Given the description of an element on the screen output the (x, y) to click on. 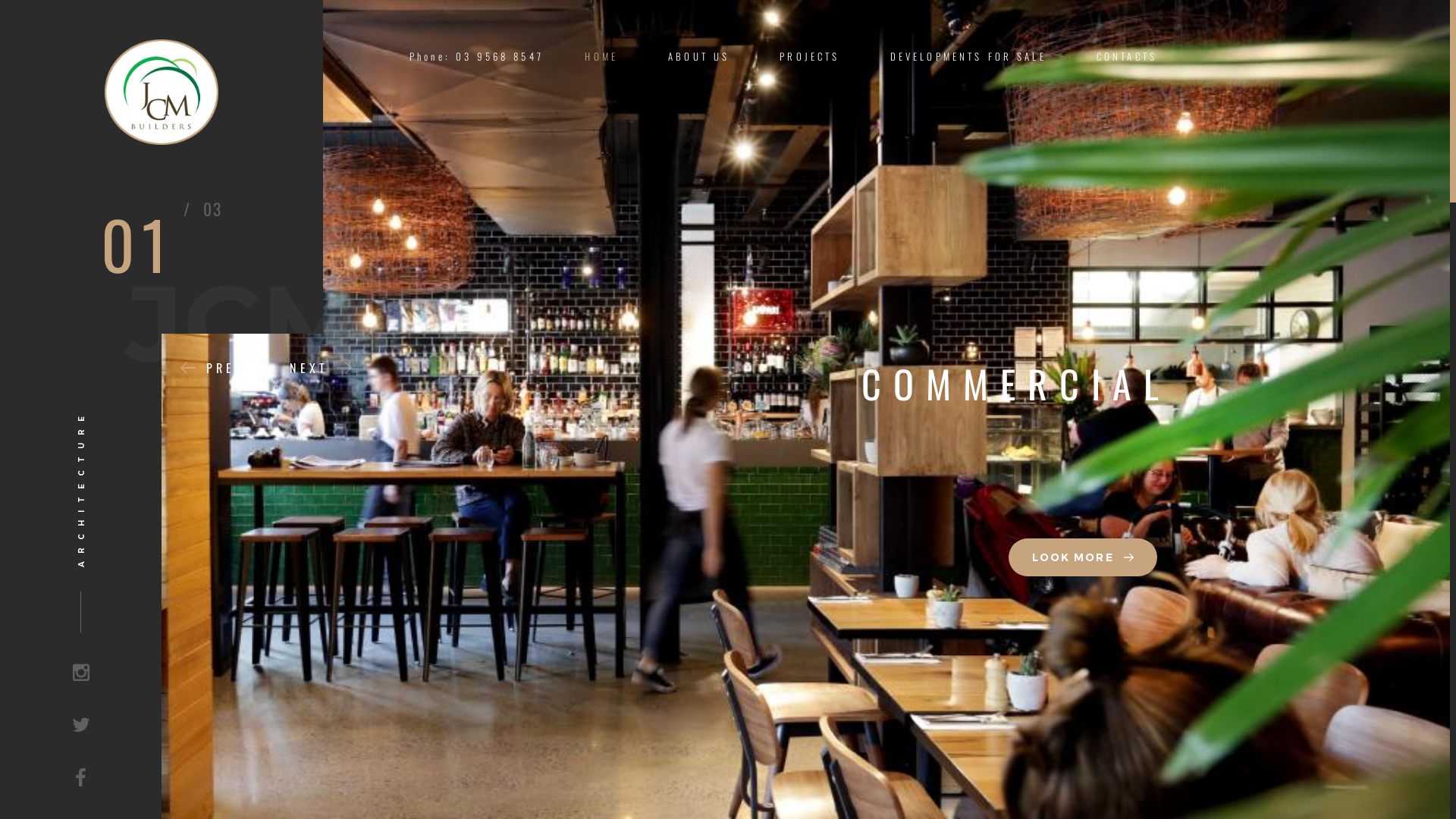
CONTACTS Element type: text (1126, 56)
PROJECTS Element type: text (809, 56)
LOOK MORE Element type: text (1082, 557)
HOME Element type: text (601, 56)
ABOUT US Element type: text (698, 56)
DEVELOPMENTS FOR SALE Element type: text (968, 56)
